Given the description of an element on the screen output the (x, y) to click on. 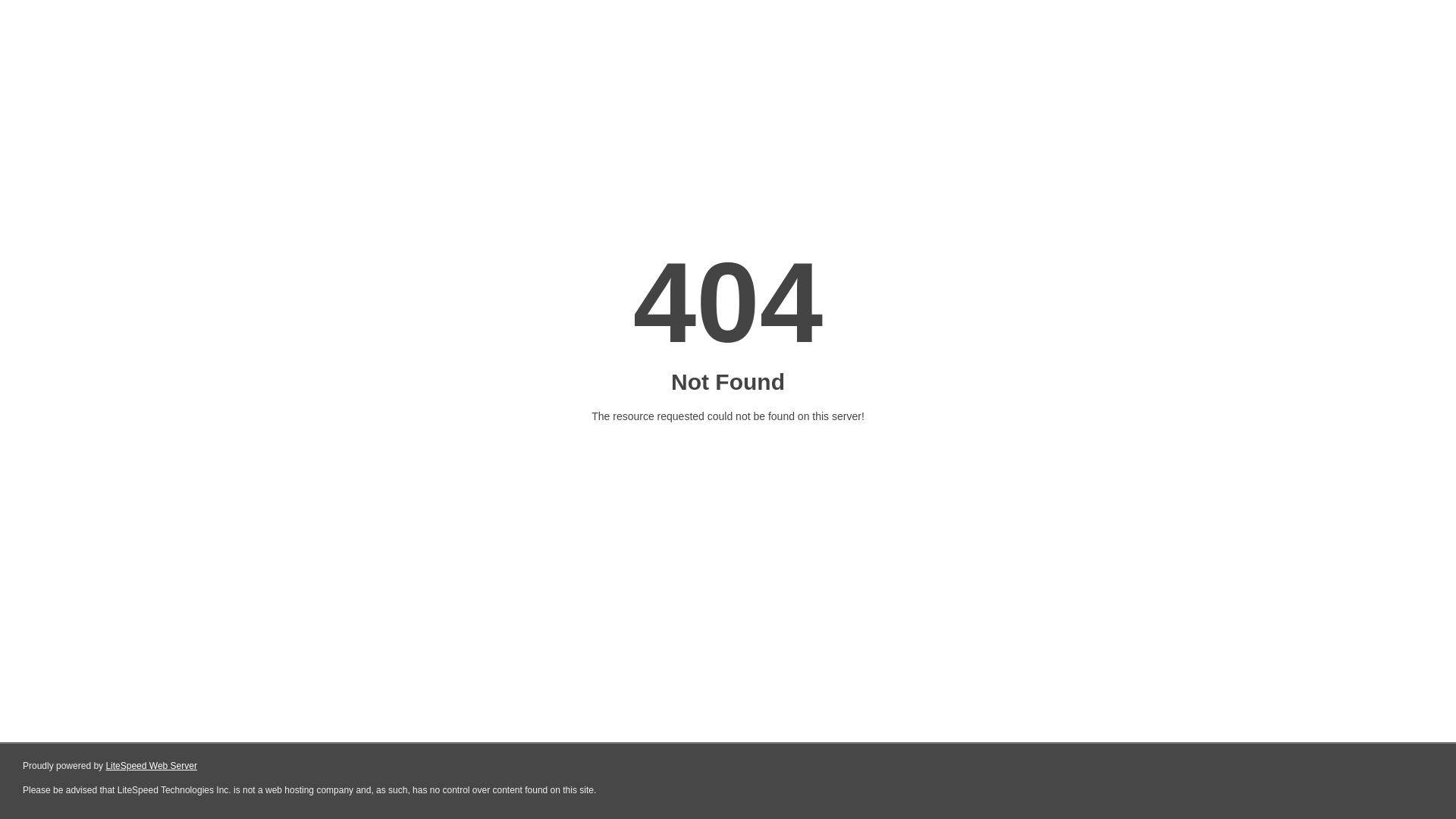
LiteSpeed Web Server Element type: text (151, 765)
